Given the description of an element on the screen output the (x, y) to click on. 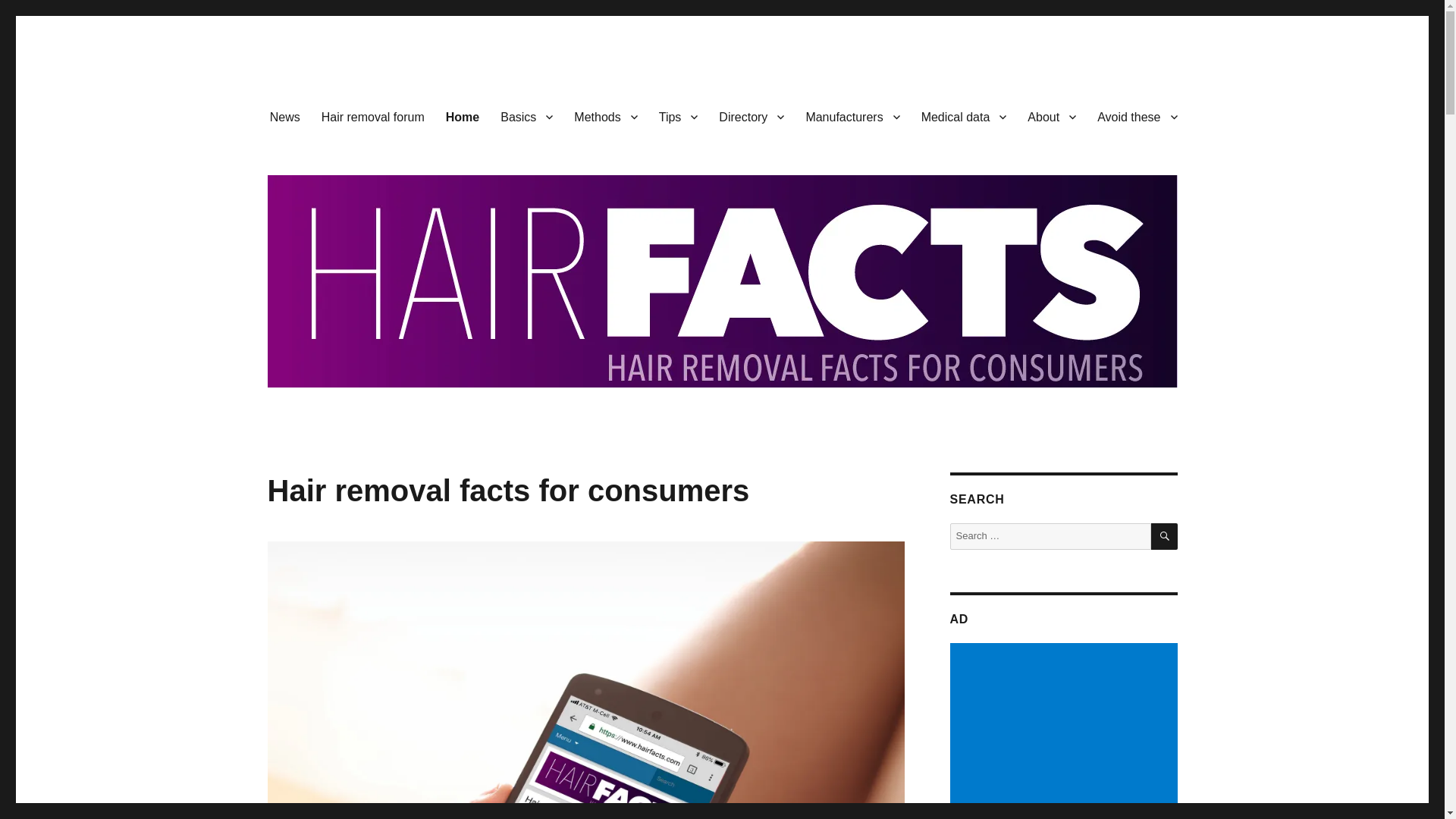
Basics (526, 116)
Methods (605, 116)
News (285, 116)
Advertisement (1065, 731)
Home (462, 116)
Hair removal forum (373, 116)
